Given the description of an element on the screen output the (x, y) to click on. 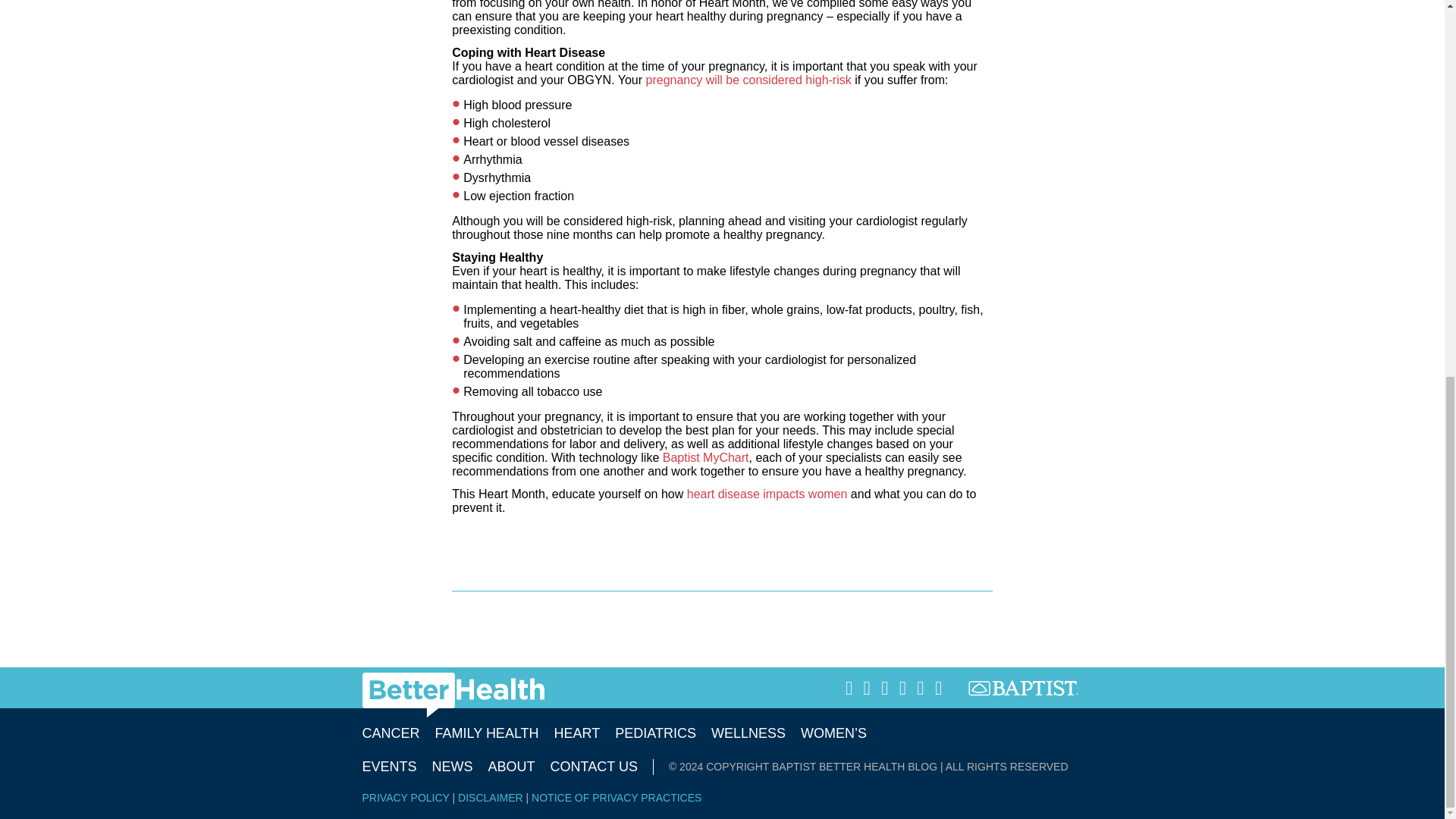
heart disease impacts women (767, 493)
pregnancy will be considered high-risk (748, 79)
Baptist MyChart (705, 457)
